Given the description of an element on the screen output the (x, y) to click on. 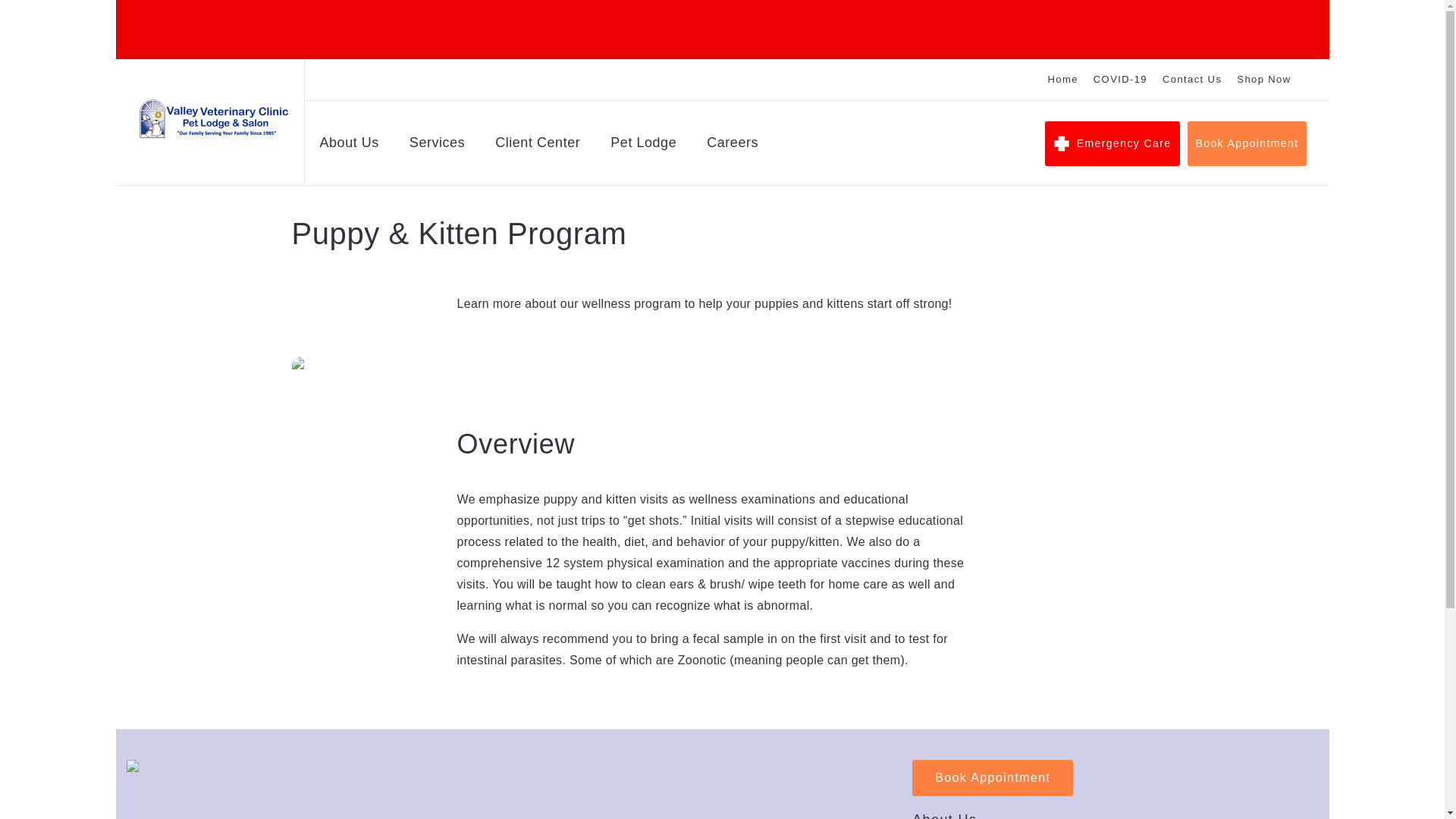
Shop Now (1263, 79)
Contact Us (1191, 79)
Client Center (537, 145)
Emergency Care (1112, 143)
Careers (732, 145)
Home (1063, 79)
Home (1063, 79)
COVID-19 (1120, 79)
COVID-19 (1120, 79)
Logo (213, 118)
